Given the description of an element on the screen output the (x, y) to click on. 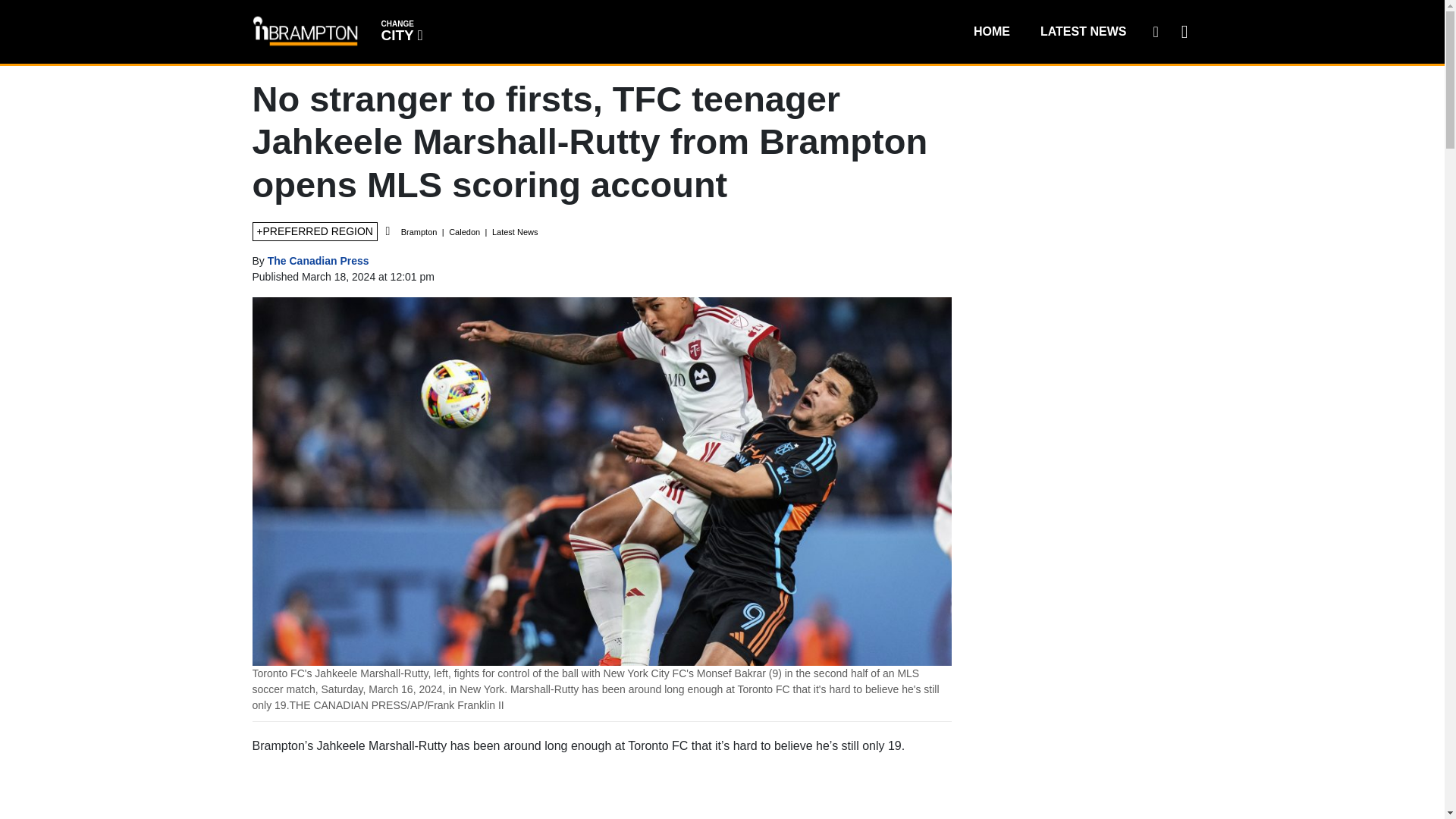
LATEST NEWS (1083, 31)
SIGN UP FOR OUR NEWSLETTER (1155, 31)
Posts by 949 (400, 30)
HOME (318, 260)
